Given the description of an element on the screen output the (x, y) to click on. 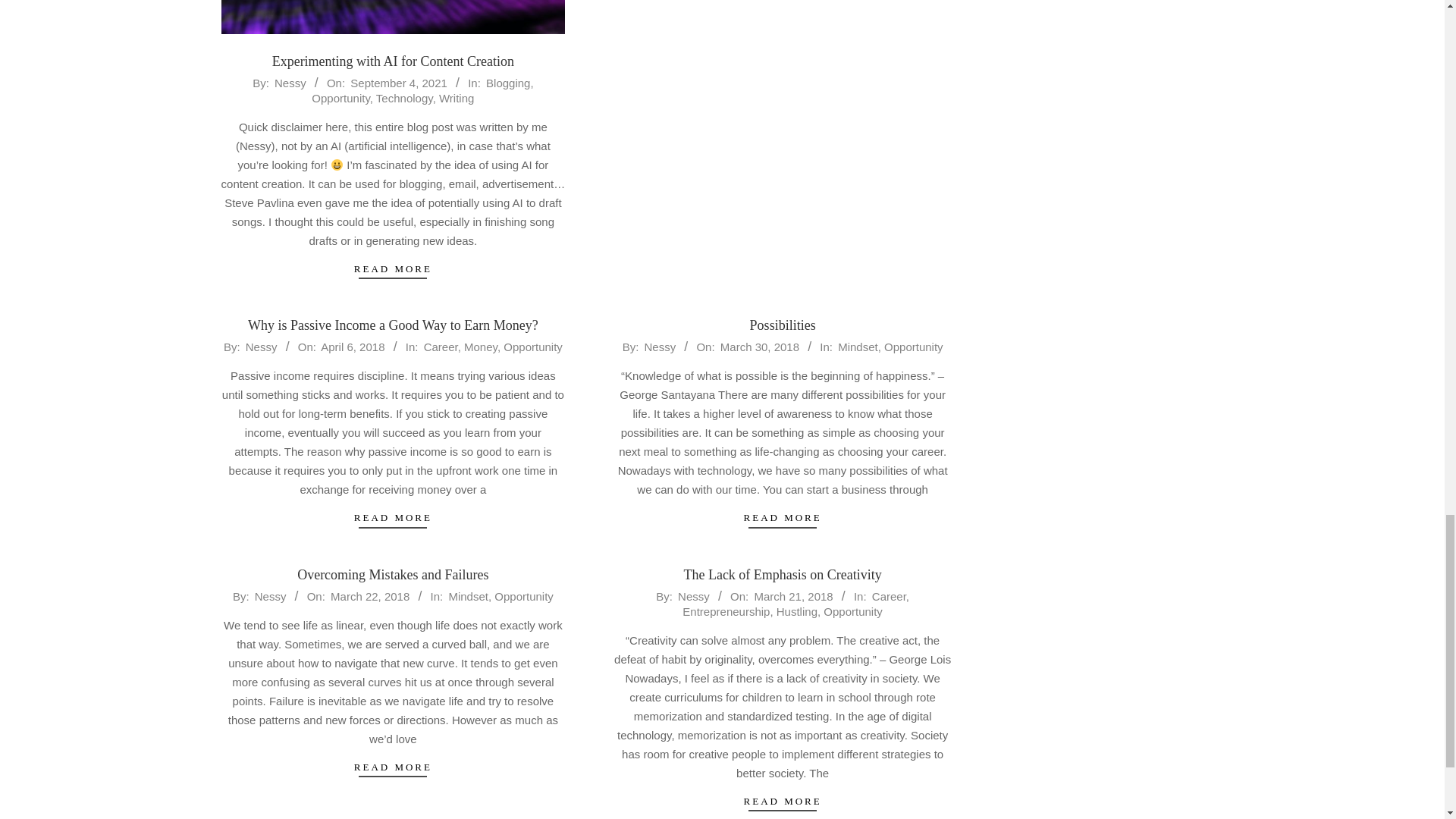
Posts by Nessy (262, 346)
Posts by Nessy (290, 82)
Friday, March 30, 2018, 3:30 pm (759, 346)
Posts by Nessy (659, 346)
Friday, April 6, 2018, 4:16 pm (352, 346)
Saturday, September 4, 2021, 5:36 pm (398, 82)
